Given the description of an element on the screen output the (x, y) to click on. 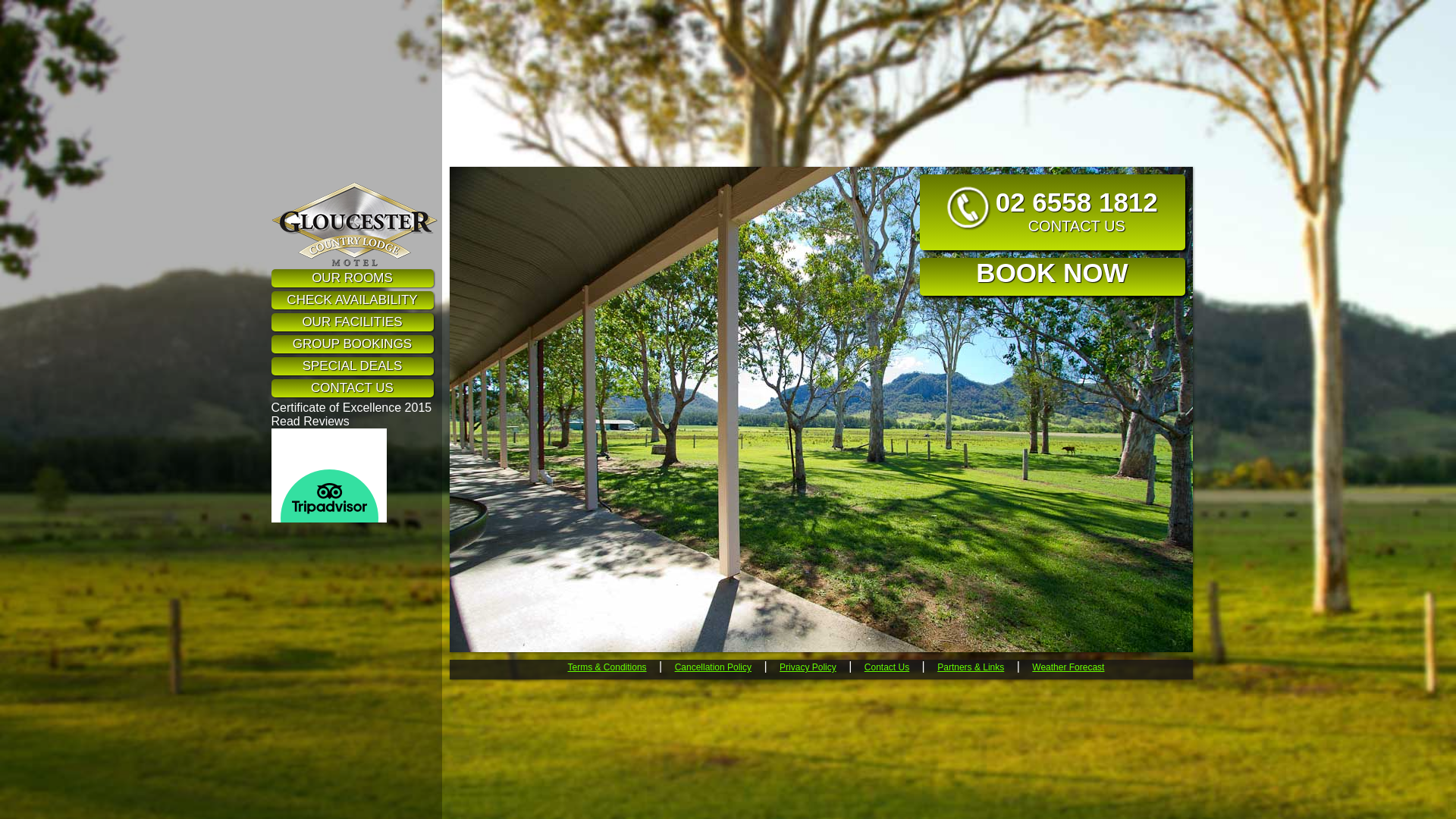
Partners & Links Element type: text (970, 667)
SPECIAL DEALS Element type: text (352, 366)
CHECK AVAILABILITY Element type: text (352, 300)
Contact Us Element type: text (886, 667)
Terms & Conditions Element type: text (606, 667)
BOOK NOW Element type: text (1051, 276)
Weather Forecast Element type: text (1068, 667)
CONTACT US Element type: text (352, 388)
Privacy Policy Element type: text (807, 667)
GROUP BOOKINGS Element type: text (352, 344)
OUR FACILITIES Element type: text (352, 322)
OUR ROOMS Element type: text (352, 278)
Cancellation Policy Element type: text (712, 667)
